Given the description of an element on the screen output the (x, y) to click on. 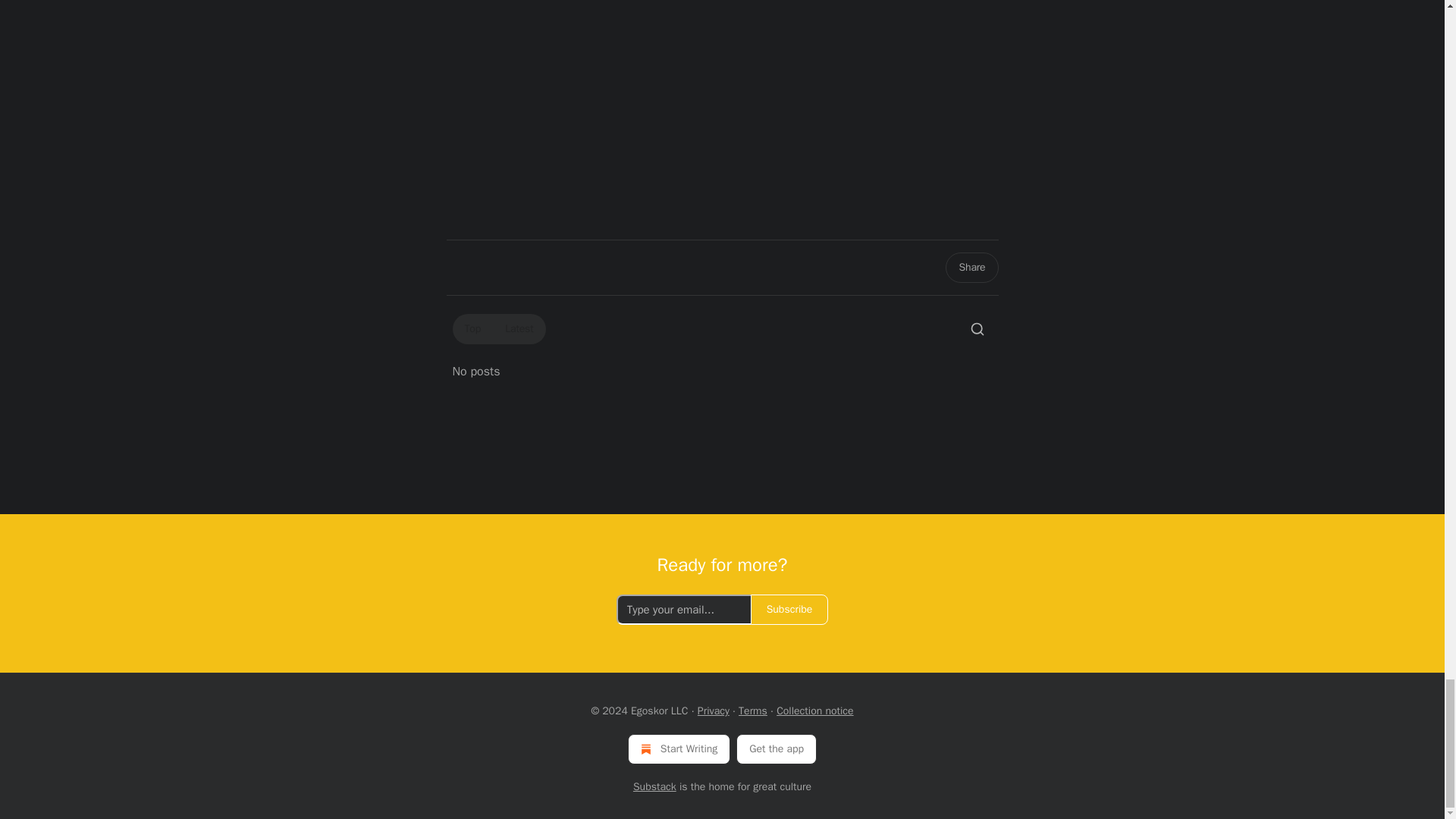
Share (970, 267)
Top (471, 328)
